Given the description of an element on the screen output the (x, y) to click on. 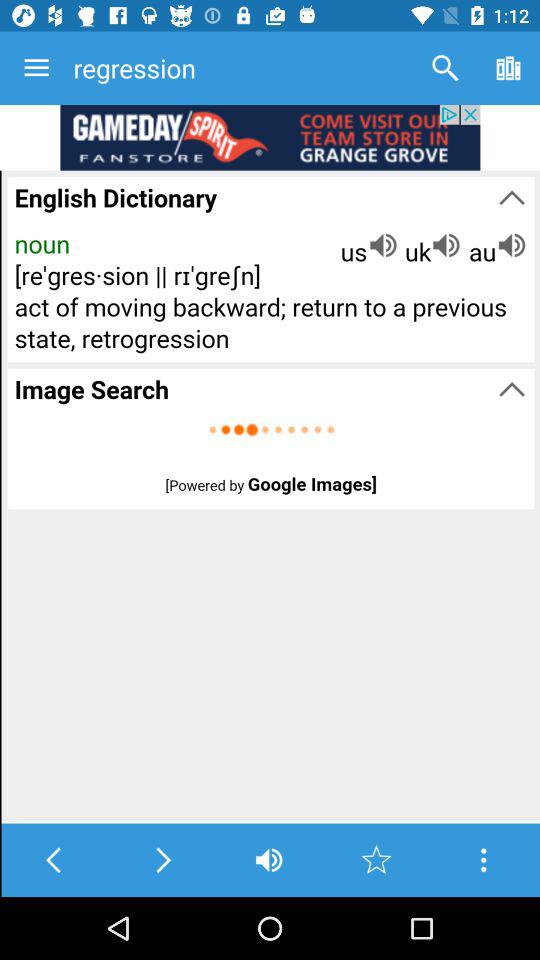
favorite word (376, 859)
